Given the description of an element on the screen output the (x, y) to click on. 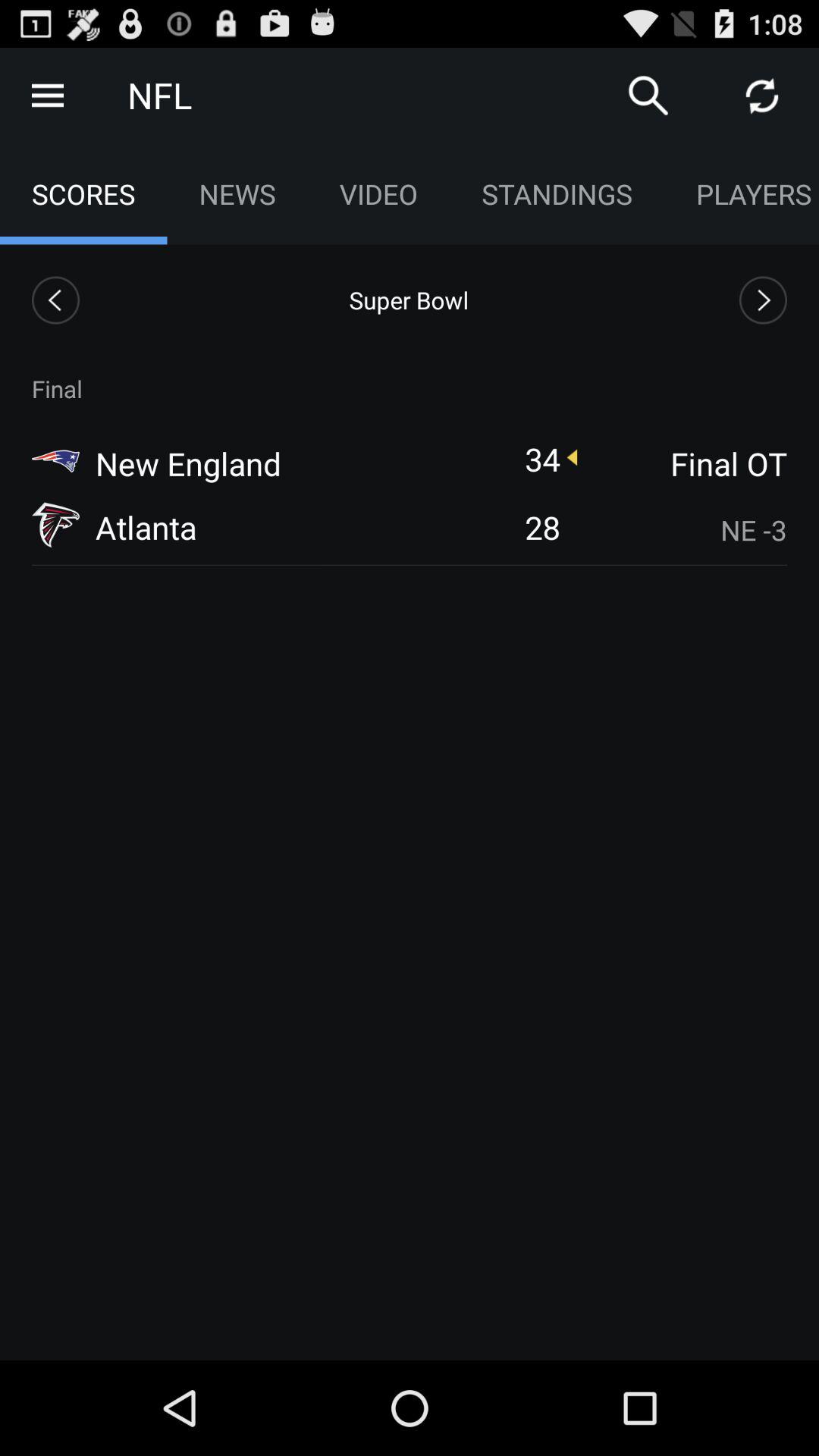
refresh page (762, 95)
